Given the description of an element on the screen output the (x, y) to click on. 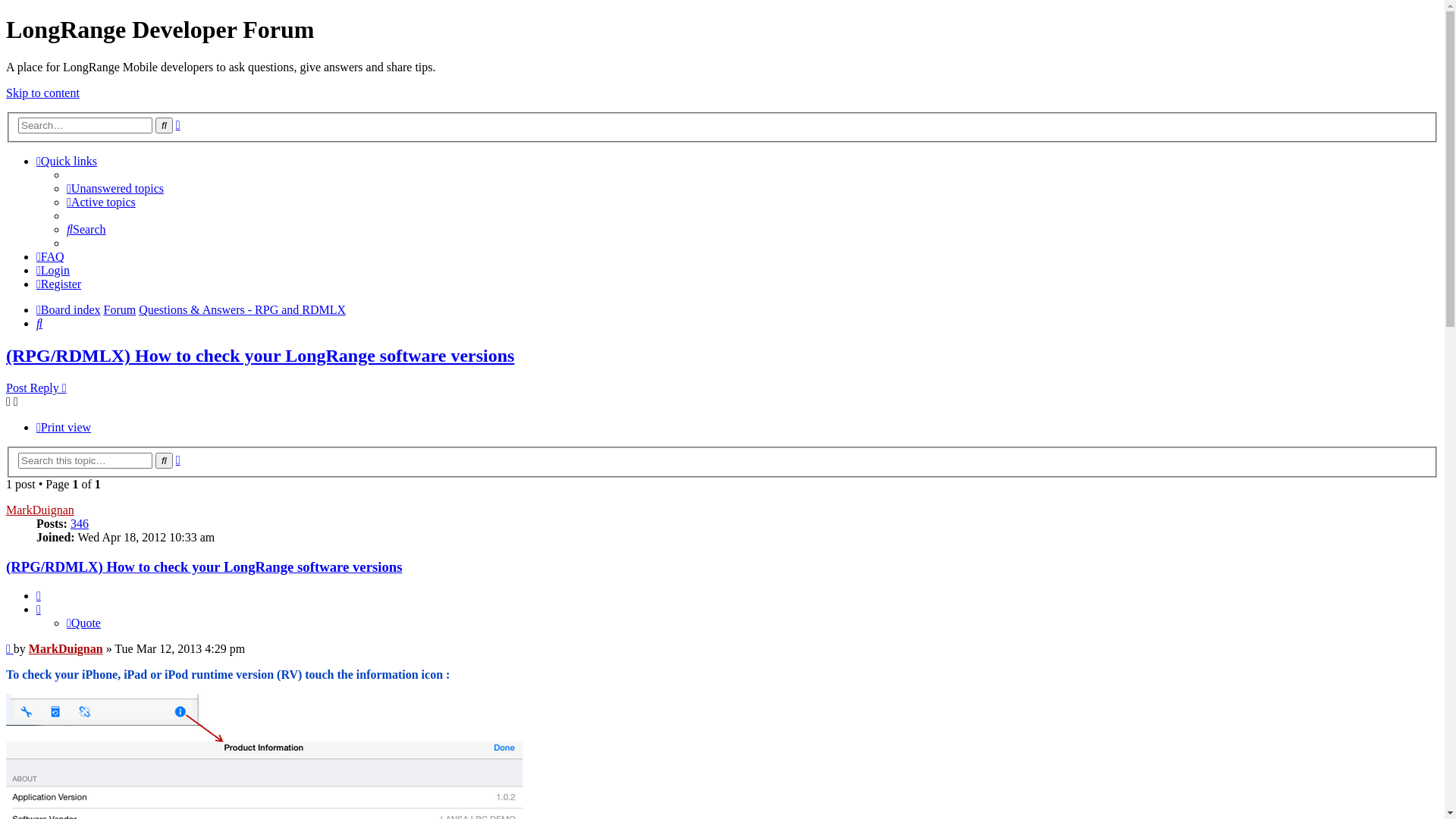
Board index Element type: text (68, 309)
Quote Element type: text (38, 595)
Print view Element type: text (63, 426)
Register Element type: text (58, 283)
346 Element type: text (79, 523)
Topic tools Element type: hover (12, 401)
Login Element type: text (52, 269)
Search Element type: text (39, 322)
Advanced search Element type: text (177, 124)
Active topics Element type: text (100, 201)
Unanswered topics Element type: text (114, 188)
Post Reply Element type: text (36, 387)
Search Element type: text (163, 460)
(RPG/RDMLX) How to check your LongRange software versions Element type: text (203, 566)
Forum Element type: text (119, 309)
Skip to content Element type: text (42, 92)
Quick links Element type: text (66, 160)
Search for keywords Element type: hover (85, 125)
Search Element type: text (163, 125)
(RPG/RDMLX) How to check your LongRange software versions Element type: text (260, 355)
Quote Element type: text (83, 622)
MarkDuignan Element type: text (40, 509)
Post Element type: text (9, 648)
Search Element type: text (86, 228)
Advanced search Element type: text (177, 459)
Questions & Answers - RPG and RDMLX Element type: text (241, 309)
MarkDuignan Element type: text (65, 648)
FAQ Element type: text (50, 256)
